Given the description of an element on the screen output the (x, y) to click on. 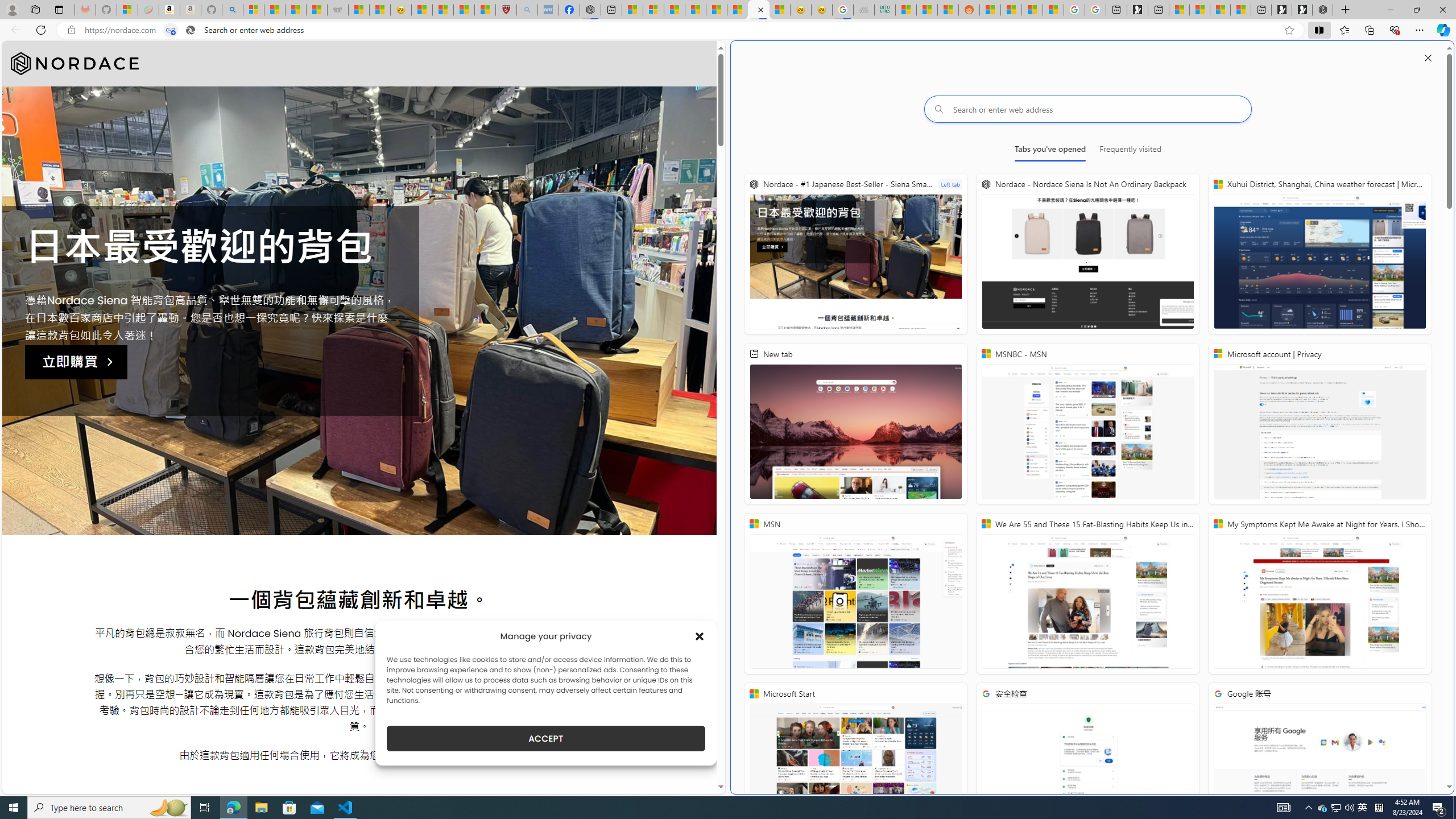
App bar (728, 29)
Restore (1416, 9)
Science - MSN (463, 9)
Class: cmplz-close (699, 636)
Collections (1369, 29)
Split screen (1318, 29)
Microsoft account | Privacy (1319, 423)
12 Popular Science Lies that Must be Corrected (485, 9)
Minimize (1390, 9)
